Given the description of an element on the screen output the (x, y) to click on. 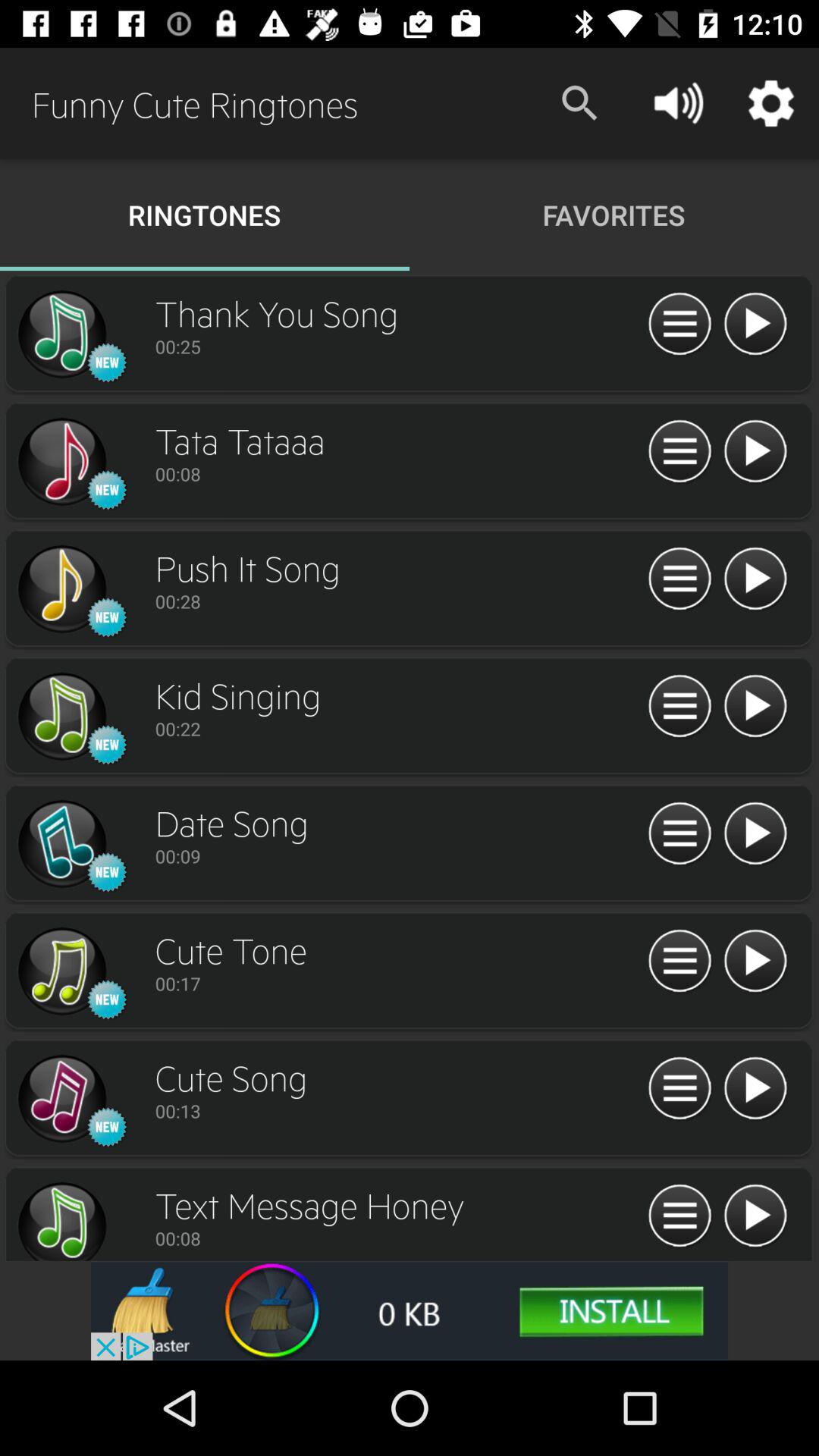
options (679, 961)
